Given the description of an element on the screen output the (x, y) to click on. 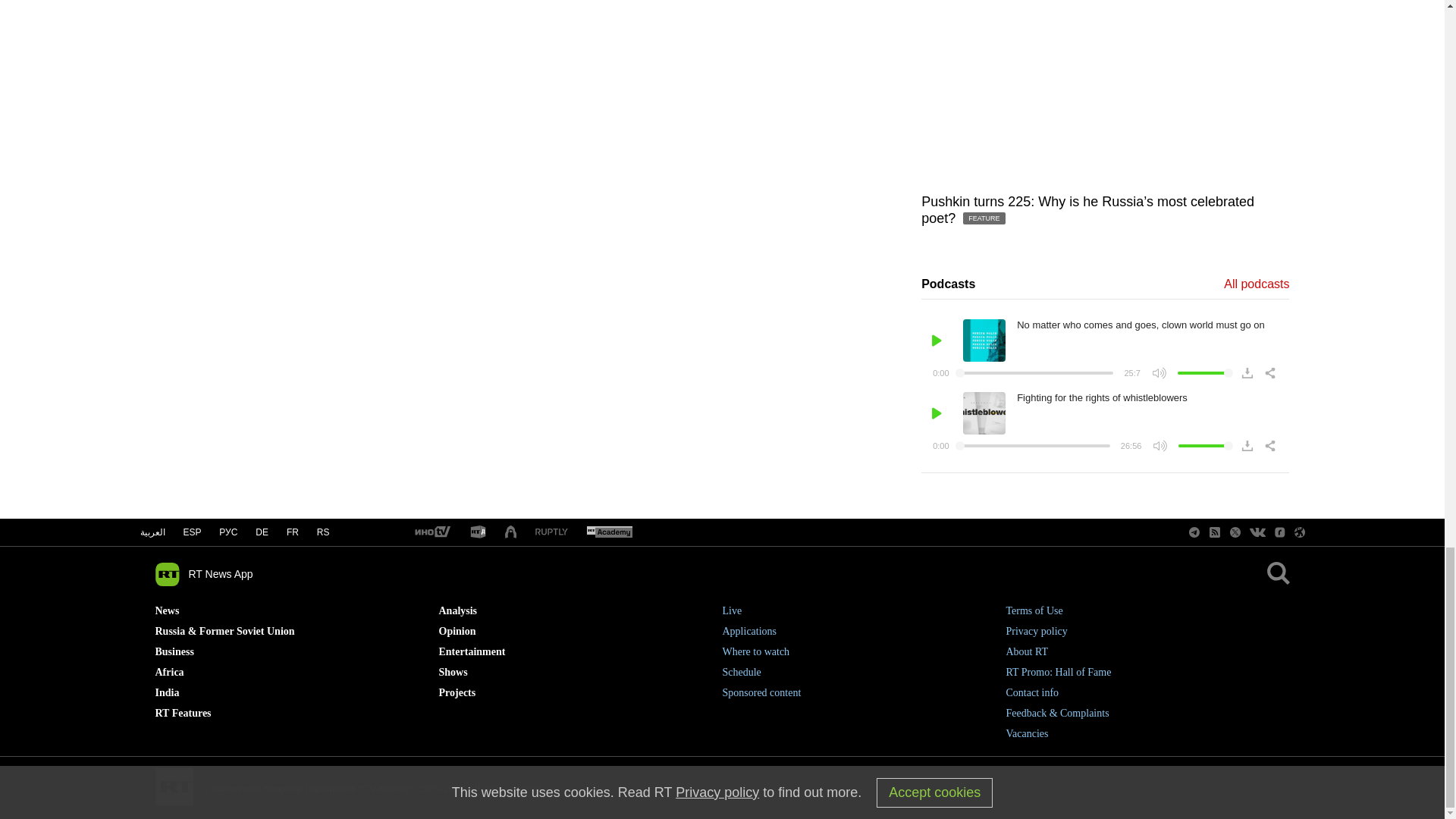
RT  (551, 532)
RT  (478, 532)
RT  (431, 532)
RT  (608, 532)
